Given the description of an element on the screen output the (x, y) to click on. 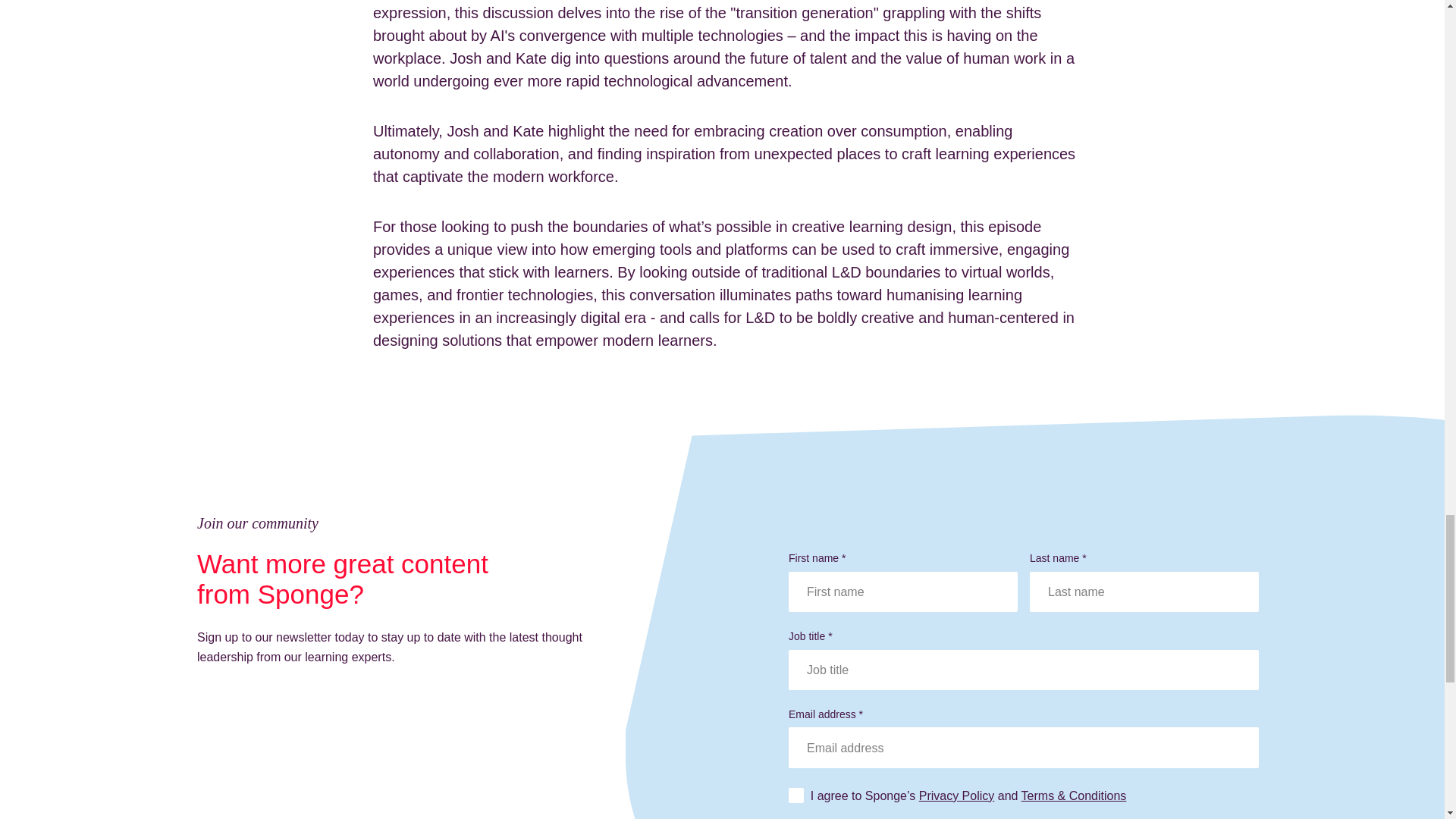
1 (805, 795)
